Given the description of an element on the screen output the (x, y) to click on. 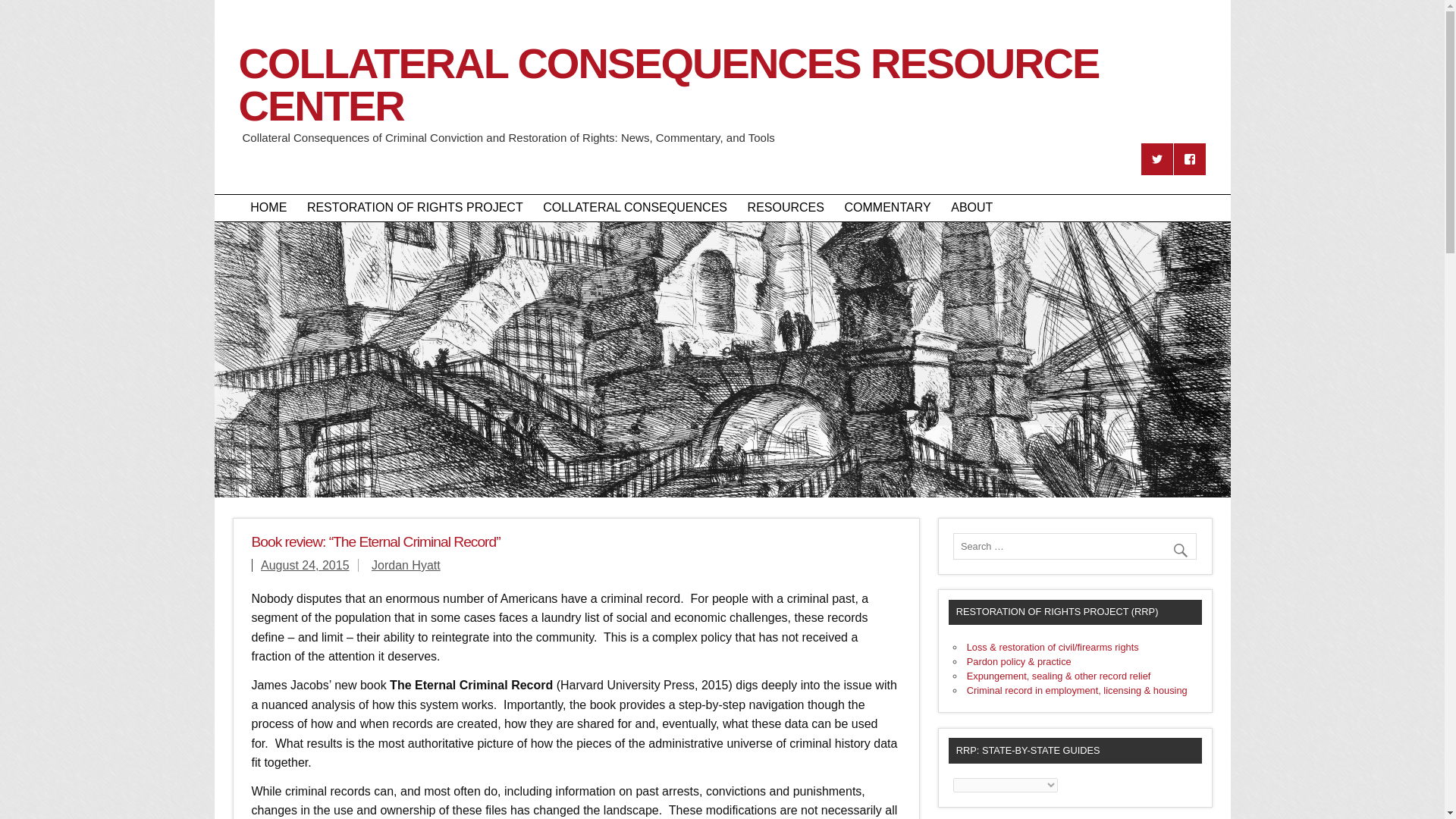
Collateral Consequences Resource Center (721, 115)
9:50 am (304, 564)
COLLATERAL CONSEQUENCES (634, 207)
COLLATERAL CONSEQUENCES RESOURCE CENTER (721, 115)
HOME (269, 207)
View all posts by Jordan Hyatt (406, 564)
RESOURCES (786, 207)
RESTORATION OF RIGHTS PROJECT (414, 207)
